Given the description of an element on the screen output the (x, y) to click on. 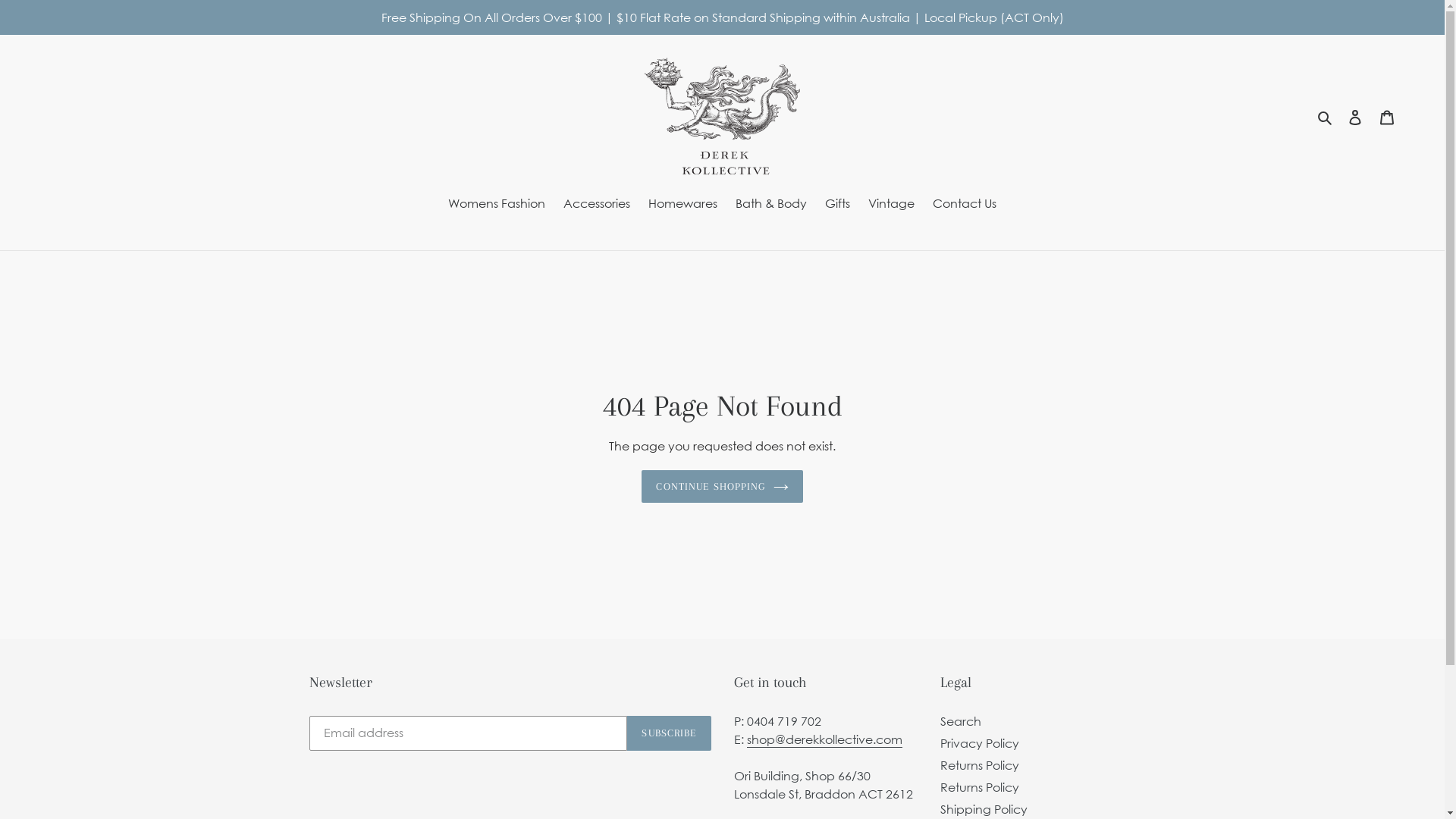
Gifts Element type: text (837, 204)
Log in Element type: text (1355, 115)
SUBSCRIBE Element type: text (668, 732)
Contact Us Element type: text (964, 204)
Returns Policy Element type: text (979, 786)
Vintage Element type: text (891, 204)
Accessories Element type: text (596, 204)
Search Element type: text (1325, 115)
Cart Element type: text (1386, 115)
Search Element type: text (960, 720)
Bath & Body Element type: text (771, 204)
Privacy Policy Element type: text (979, 742)
Shipping Policy Element type: text (983, 808)
Homewares Element type: text (682, 204)
shop@derekkollective.com Element type: text (823, 739)
CONTINUE SHOPPING Element type: text (721, 486)
Returns Policy Element type: text (979, 764)
Womens Fashion Element type: text (496, 204)
